Given the description of an element on the screen output the (x, y) to click on. 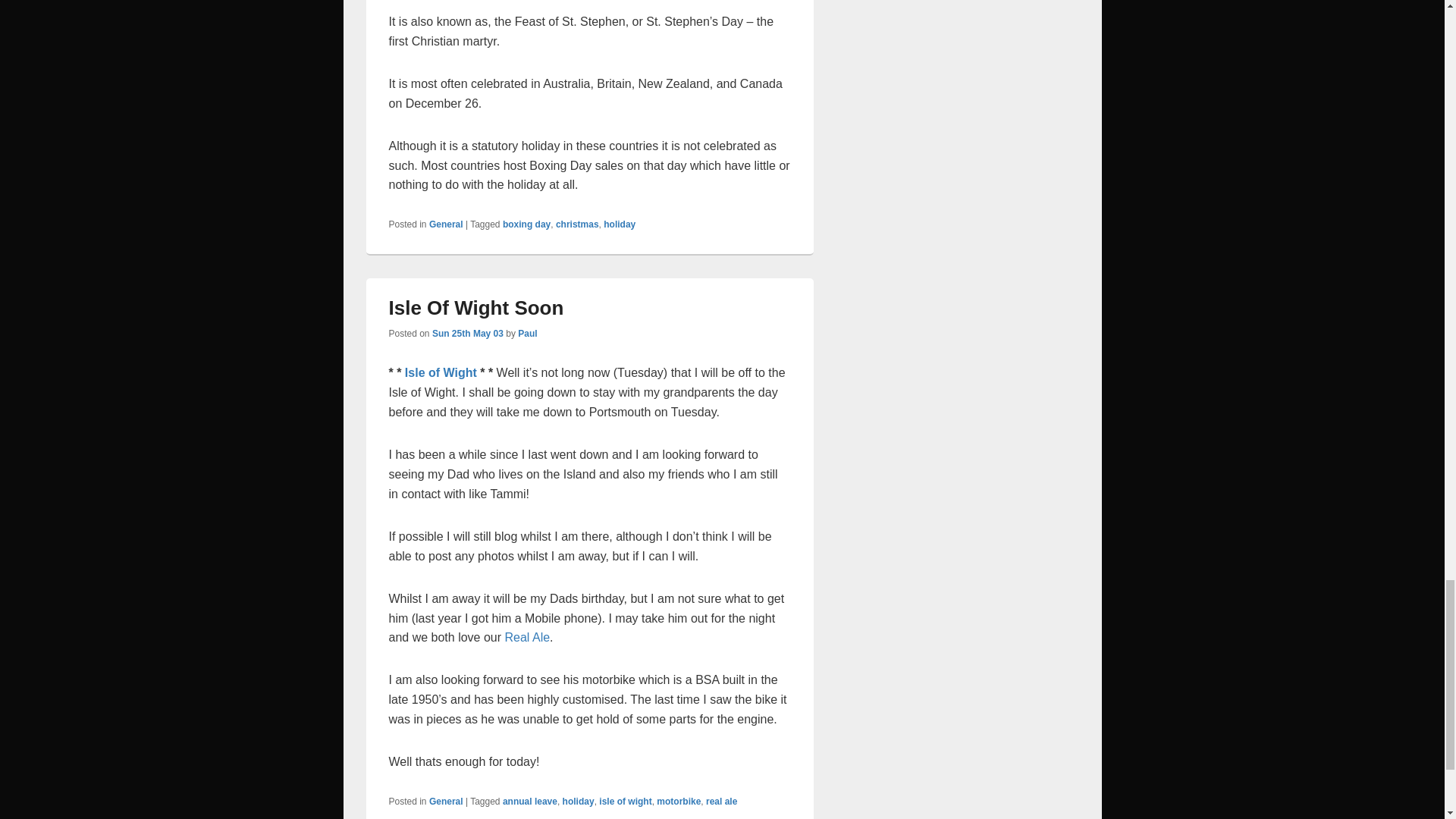
View all posts by Paul (527, 333)
Permalink to Isle Of Wight Soon (475, 307)
